Given the description of an element on the screen output the (x, y) to click on. 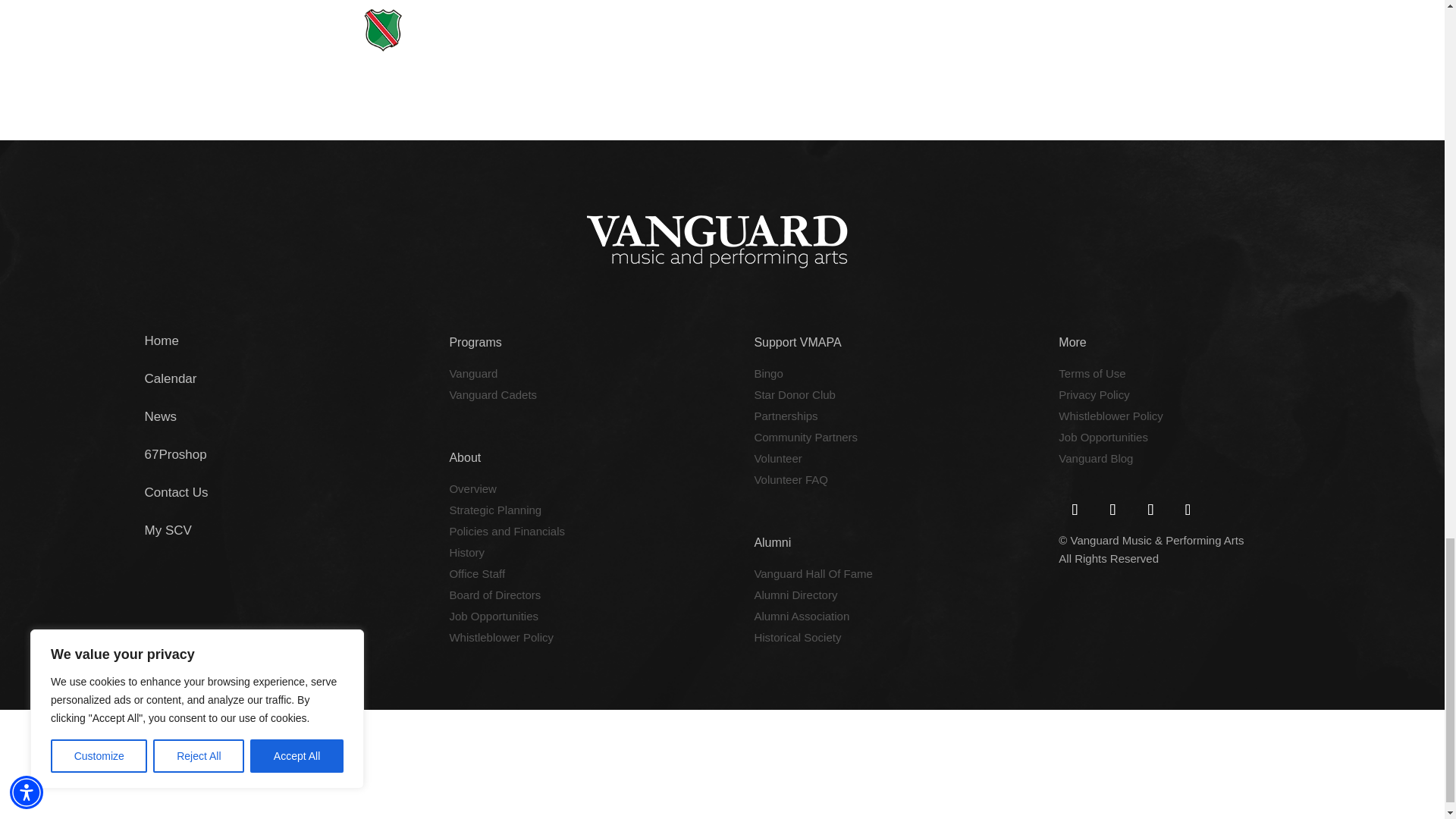
Follow on Facebook (1074, 509)
Follow on Instagram (1187, 509)
Follow on X (1112, 509)
Follow on Youtube (1150, 509)
